Given the description of an element on the screen output the (x, y) to click on. 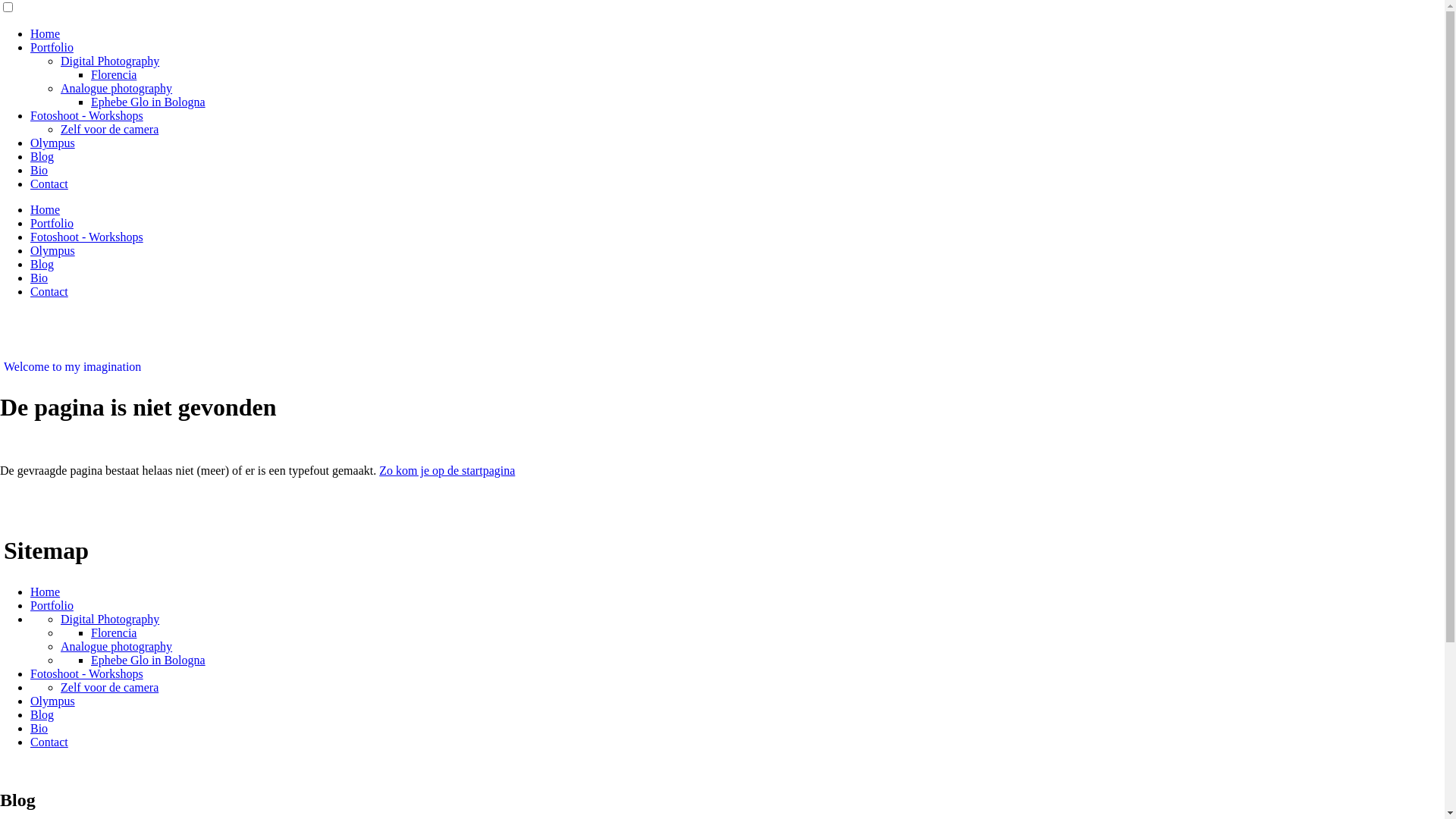
Home Element type: text (44, 33)
Blog Element type: text (41, 714)
Fotoshoot - Workshops Element type: text (86, 115)
Bio Element type: text (38, 277)
Blog Element type: text (41, 156)
Home Element type: text (44, 209)
Digital Photography Element type: text (109, 618)
Zelf voor de camera Element type: text (109, 686)
Analogue photography Element type: text (116, 646)
Zelf voor de camera Element type: text (109, 128)
Blog Element type: text (41, 263)
Ephebe Glo in Bologna Element type: text (148, 101)
Home Element type: text (44, 591)
Bio Element type: text (38, 169)
Contact Element type: text (49, 741)
Bio Element type: text (38, 727)
Olympus Element type: text (52, 142)
Welcome to my imagination Element type: text (72, 366)
Digital Photography Element type: text (109, 60)
Analogue photography Element type: text (116, 87)
Fotoshoot - Workshops Element type: text (86, 673)
Portfolio Element type: text (51, 605)
Zo kom je op de startpagina Element type: text (446, 470)
Fotoshoot - Workshops Element type: text (86, 236)
Contact Element type: text (49, 291)
Olympus Element type: text (52, 700)
Portfolio Element type: text (51, 222)
Contact Element type: text (49, 183)
Olympus Element type: text (52, 250)
Portfolio Element type: text (51, 46)
Florencia Element type: text (113, 632)
Ephebe Glo in Bologna Element type: text (148, 659)
Florencia Element type: text (113, 74)
